Given the description of an element on the screen output the (x, y) to click on. 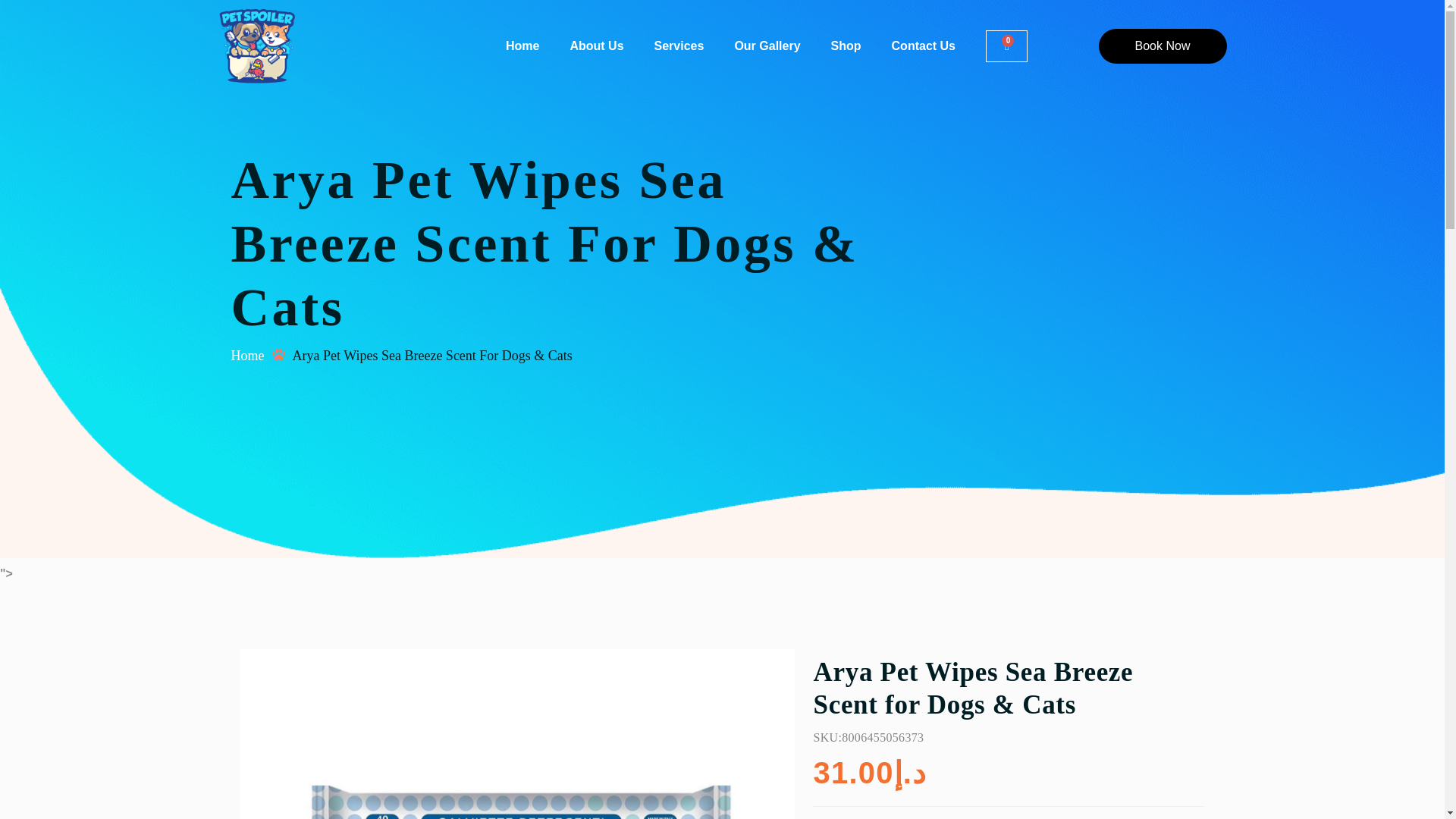
Shop (845, 45)
Home (246, 355)
Services (679, 45)
Our Gallery (767, 45)
Home (522, 45)
Book Now (1161, 45)
0 (1006, 46)
Contact Us (923, 45)
About Us (596, 45)
